Given the description of an element on the screen output the (x, y) to click on. 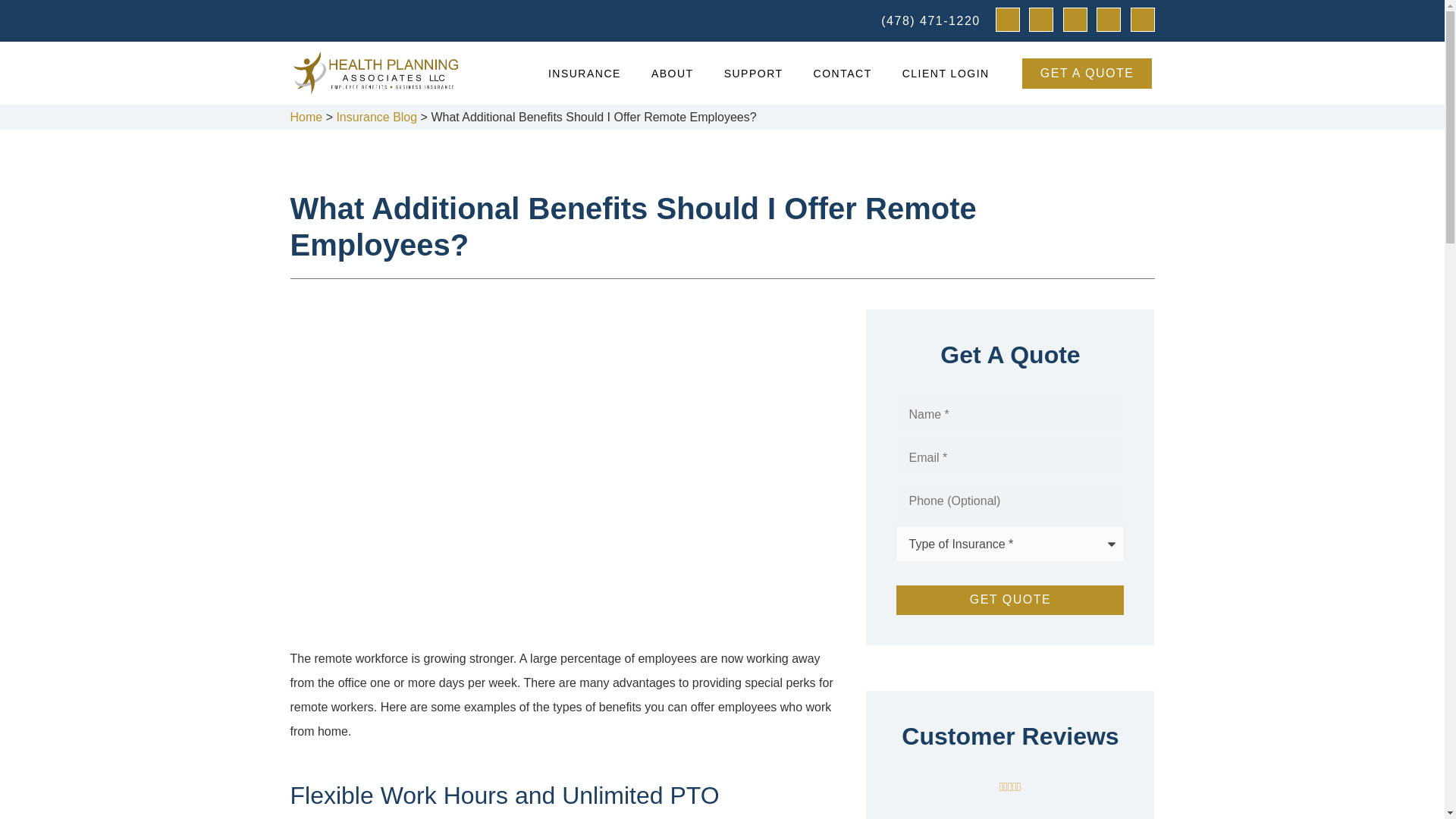
INSURANCE (584, 73)
SUPPORT (753, 73)
CONTACT (841, 73)
Get Quote (1010, 599)
logo (374, 73)
ABOUT (672, 73)
